Given the description of an element on the screen output the (x, y) to click on. 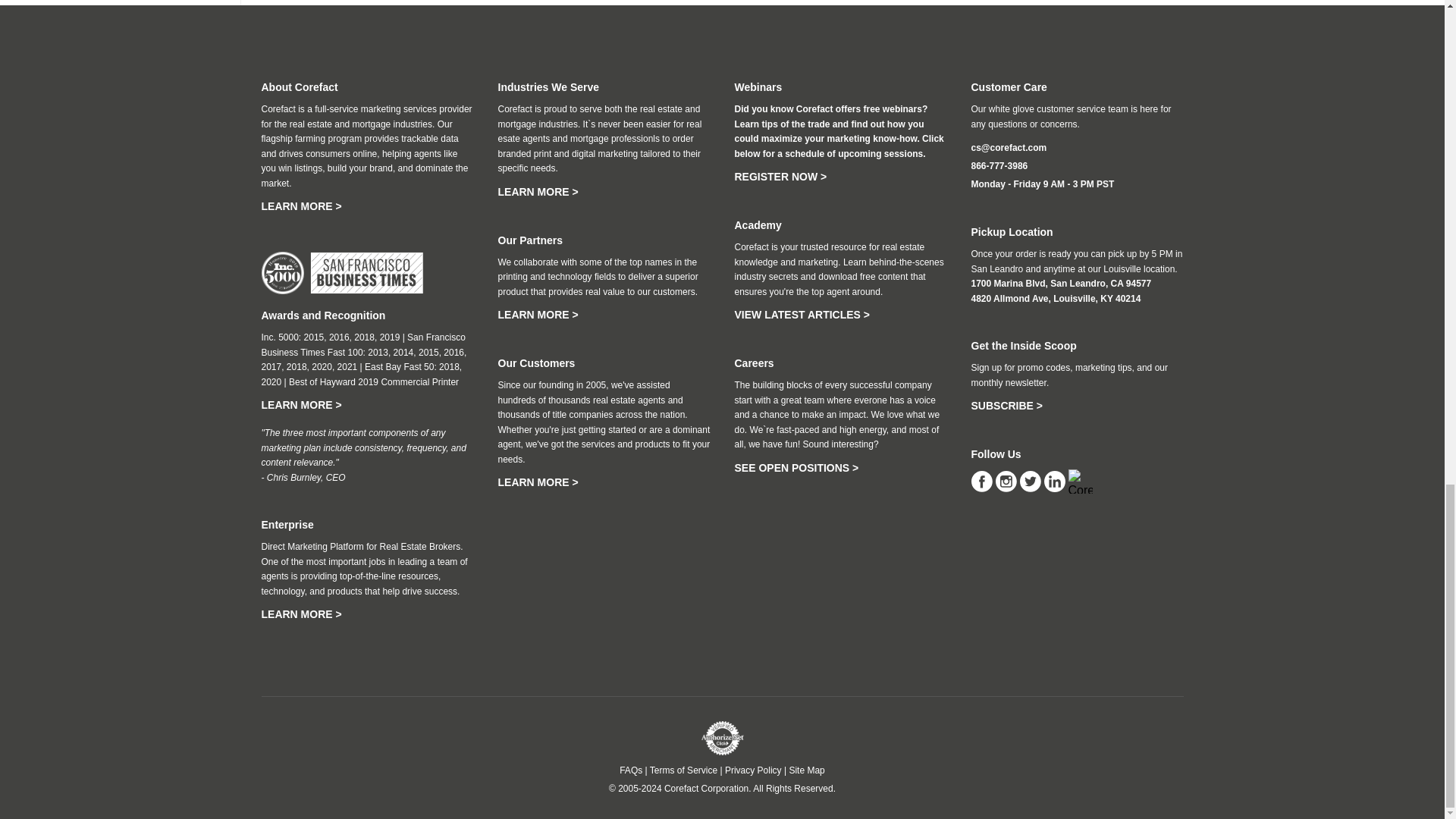
Email customer service (1008, 147)
Subscribe to our newsletter (1006, 405)
View articles on the Academy (801, 314)
Learn more about the industries we serve (537, 191)
View our testimonials (537, 481)
Learn more about Enterprise (300, 613)
Follow us on Instagram (1006, 481)
Follow us on Linkedin (1055, 481)
View our latest webinars (780, 176)
View our open positions (796, 467)
